Given the description of an element on the screen output the (x, y) to click on. 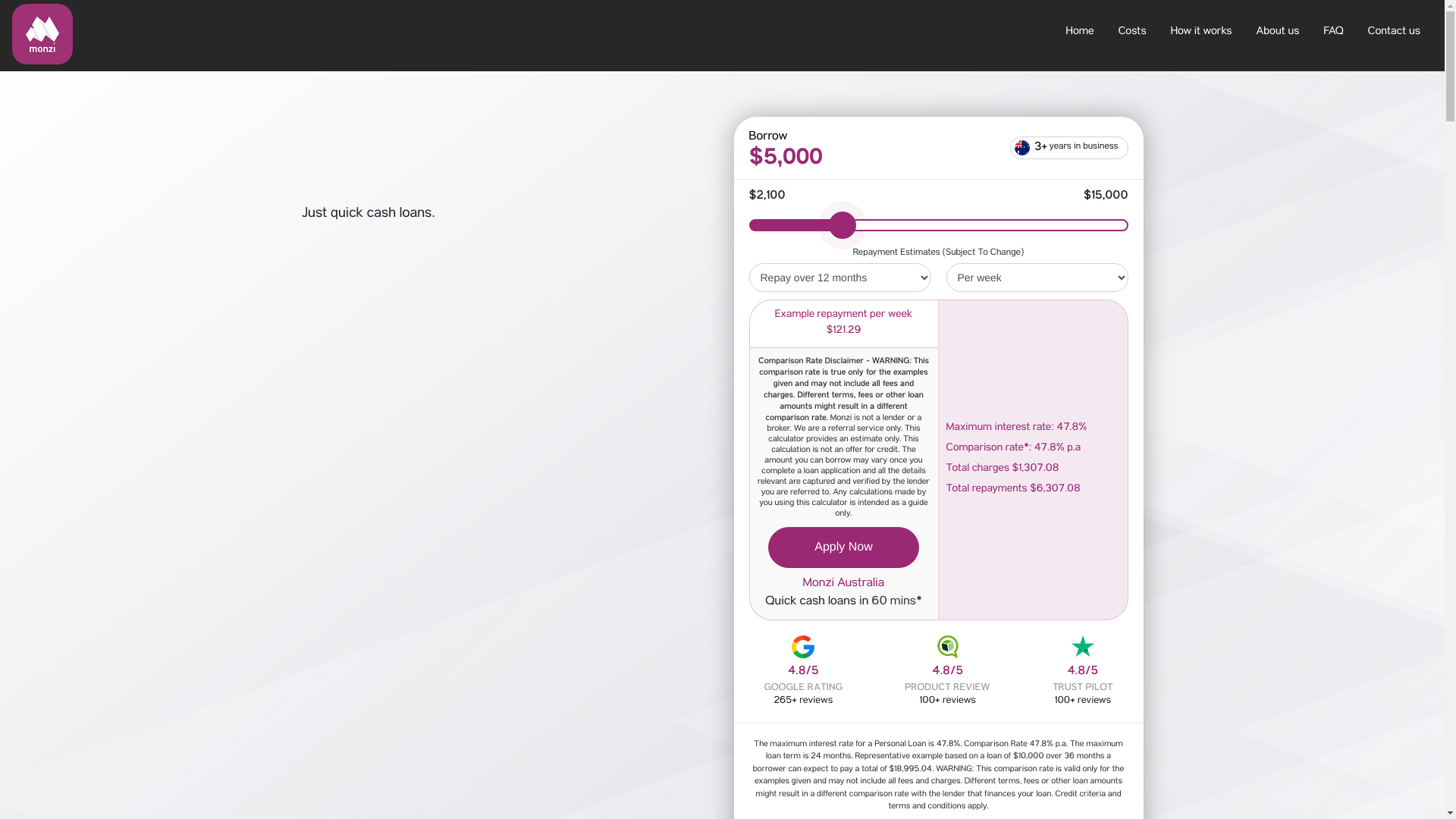
Home Element type: text (1080, 32)
How it works Element type: text (1201, 32)
Apply Now Element type: text (843, 547)
About us Element type: text (1277, 32)
Costs Element type: text (1132, 32)
Contact us Element type: text (1393, 32)
FAQ Element type: text (1333, 32)
